Given the description of an element on the screen output the (x, y) to click on. 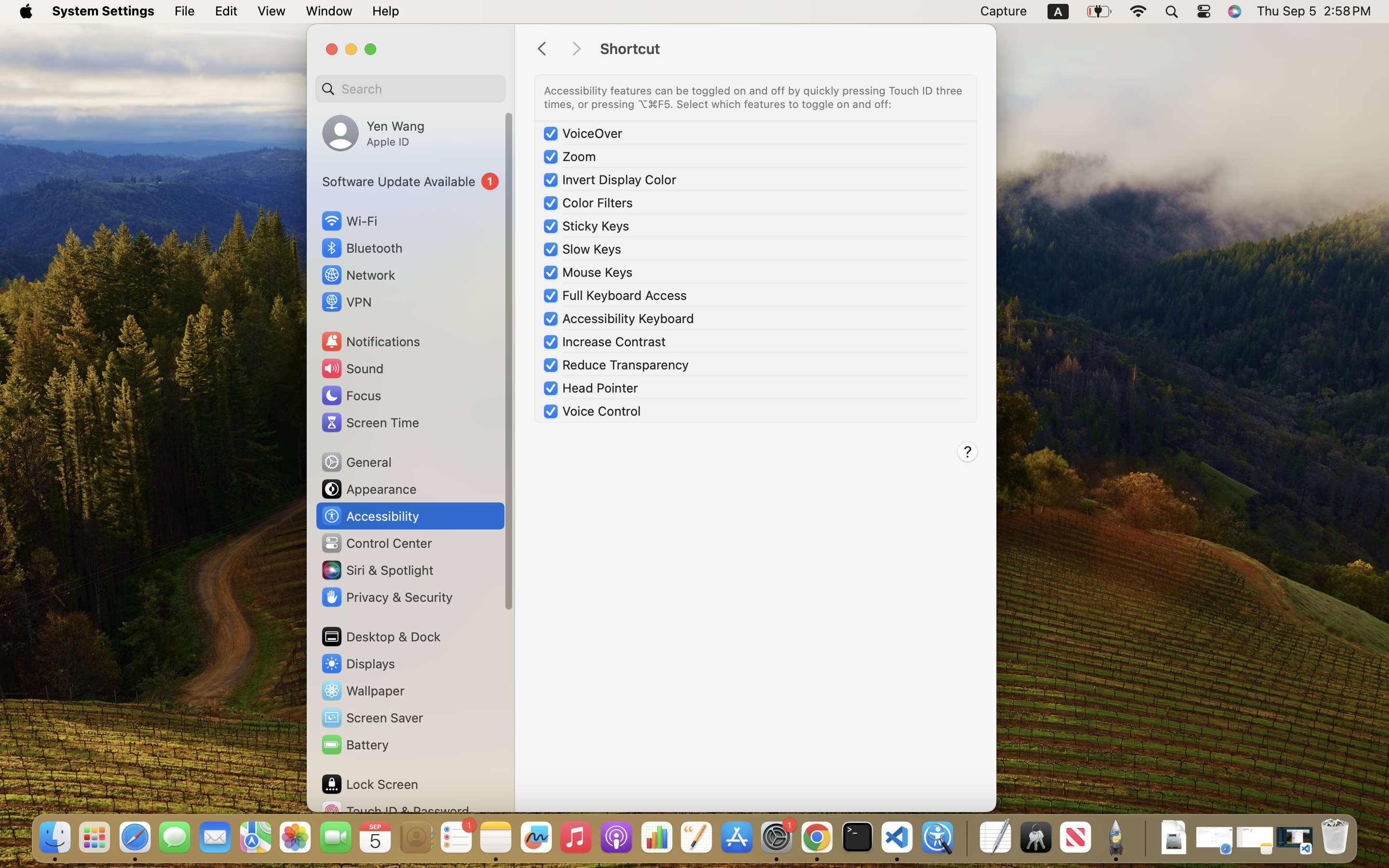
Touch ID & Password Element type: AXStaticText (394, 810)
Network Element type: AXStaticText (357, 274)
Displays Element type: AXStaticText (357, 663)
Screen Saver Element type: AXStaticText (371, 717)
